Given the description of an element on the screen output the (x, y) to click on. 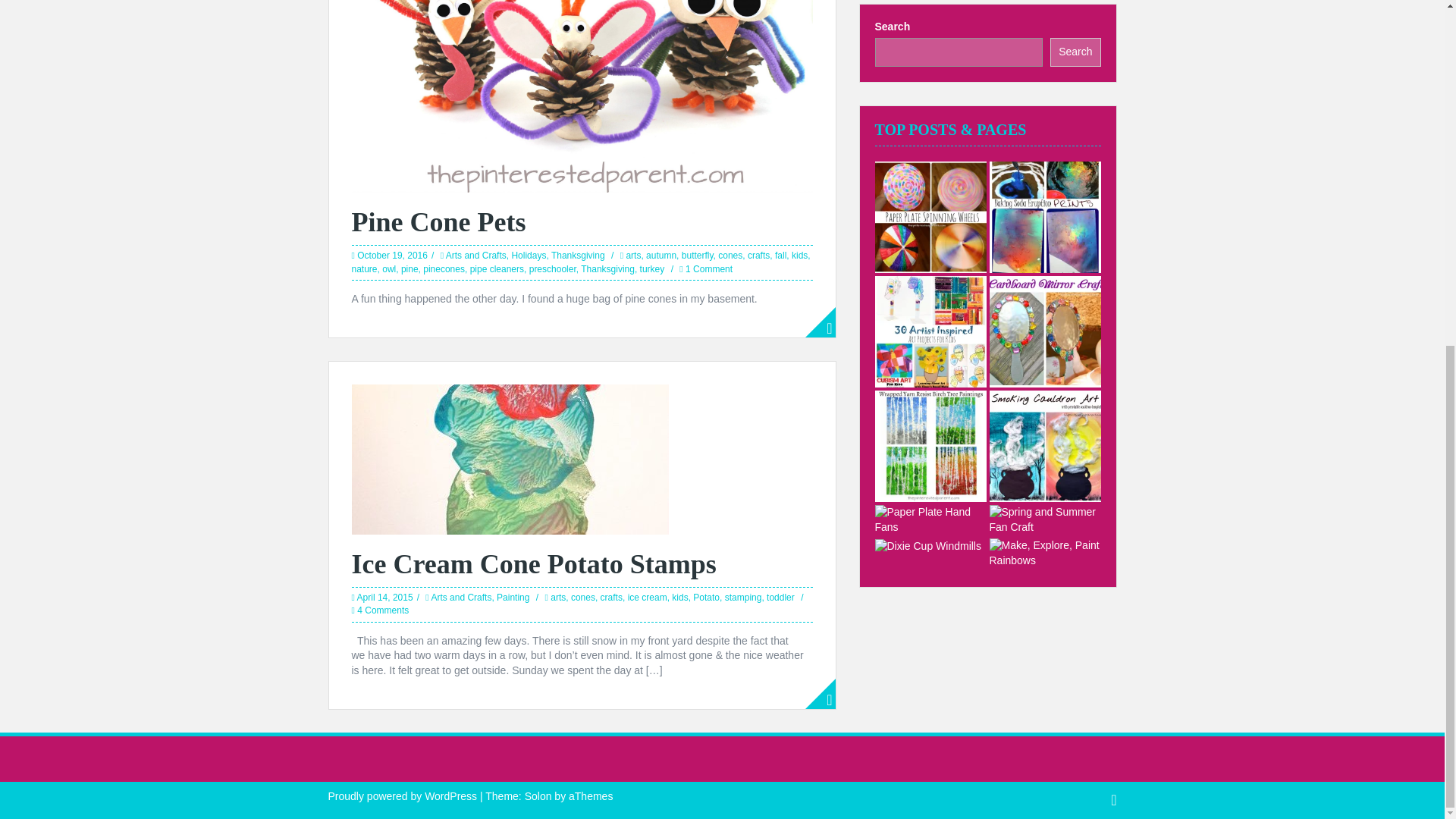
autumn (661, 255)
fall (780, 255)
Holidays (528, 255)
Pine Cone Pets (582, 45)
Arts and Crafts (475, 255)
arts (633, 255)
Smoky Witch Cauldrons (1044, 446)
crafts (759, 255)
butterfly (697, 255)
Pine Cone Pets (438, 222)
pine (410, 267)
Paper Plate Spinning Wheel (931, 216)
Ice Cream Cone Potato Stamps (510, 458)
Dixie Cup Windmills (928, 545)
pinecones (443, 267)
